Given the description of an element on the screen output the (x, y) to click on. 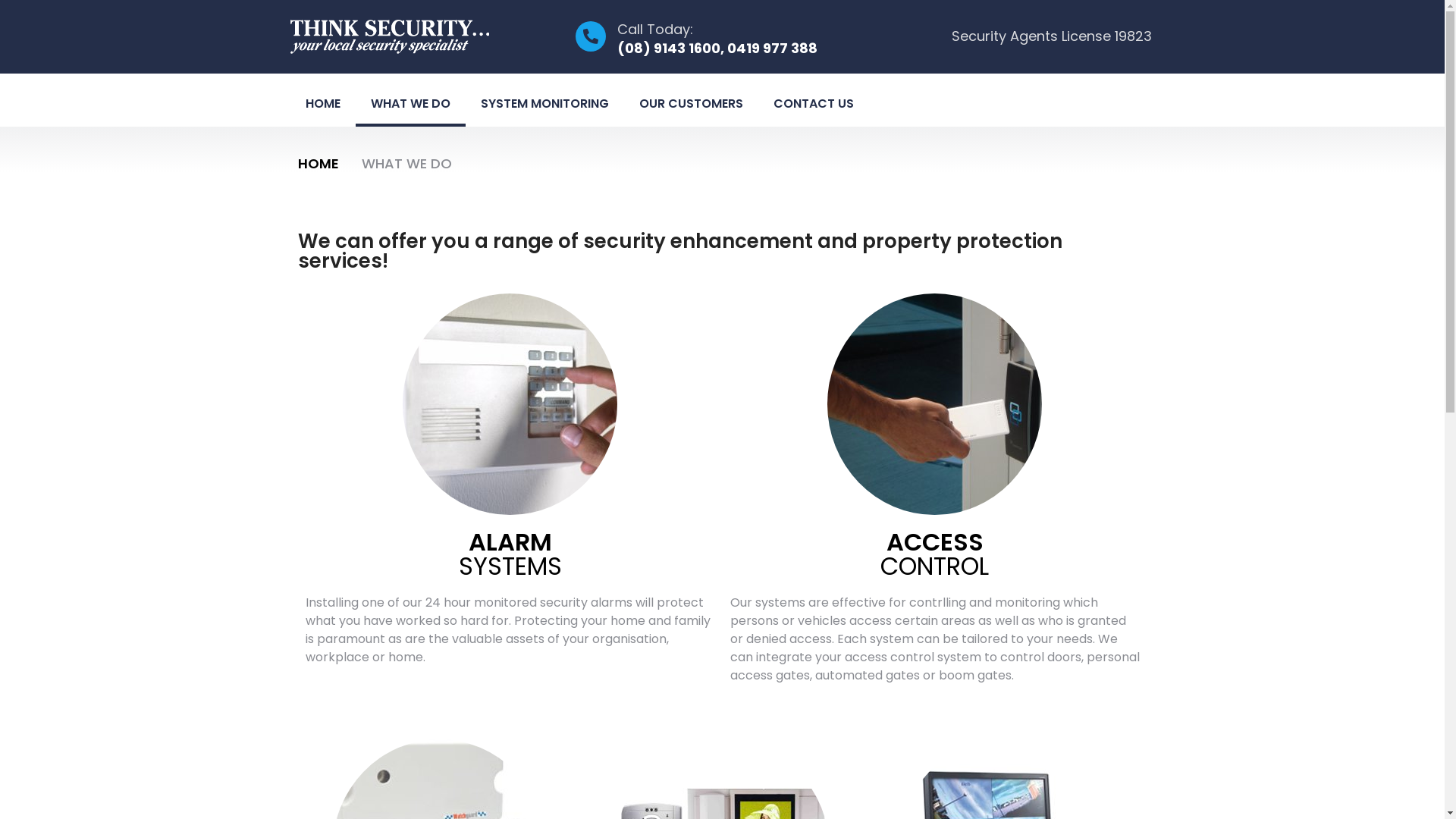
WHAT WE DO Element type: text (409, 103)
HOME Element type: text (317, 162)
HOME Element type: text (321, 103)
OUR CUSTOMERS Element type: text (690, 103)
CONTACT US Element type: text (813, 103)
(08) 9143 1600 Element type: text (668, 47)
0419 977 388 Element type: text (772, 47)
SYSTEM MONITORING Element type: text (544, 103)
